Given the description of an element on the screen output the (x, y) to click on. 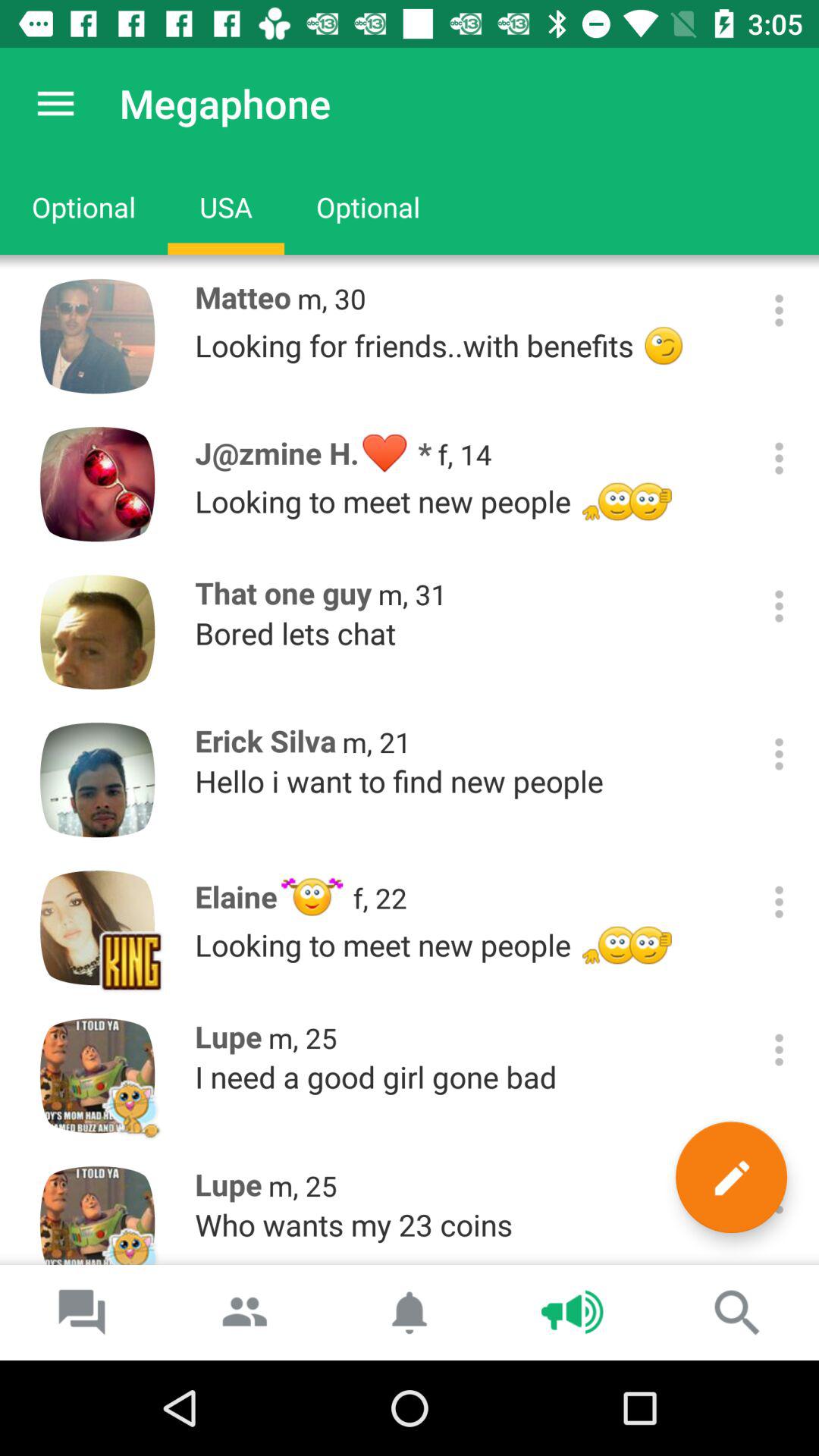
view options (779, 310)
